Given the description of an element on the screen output the (x, y) to click on. 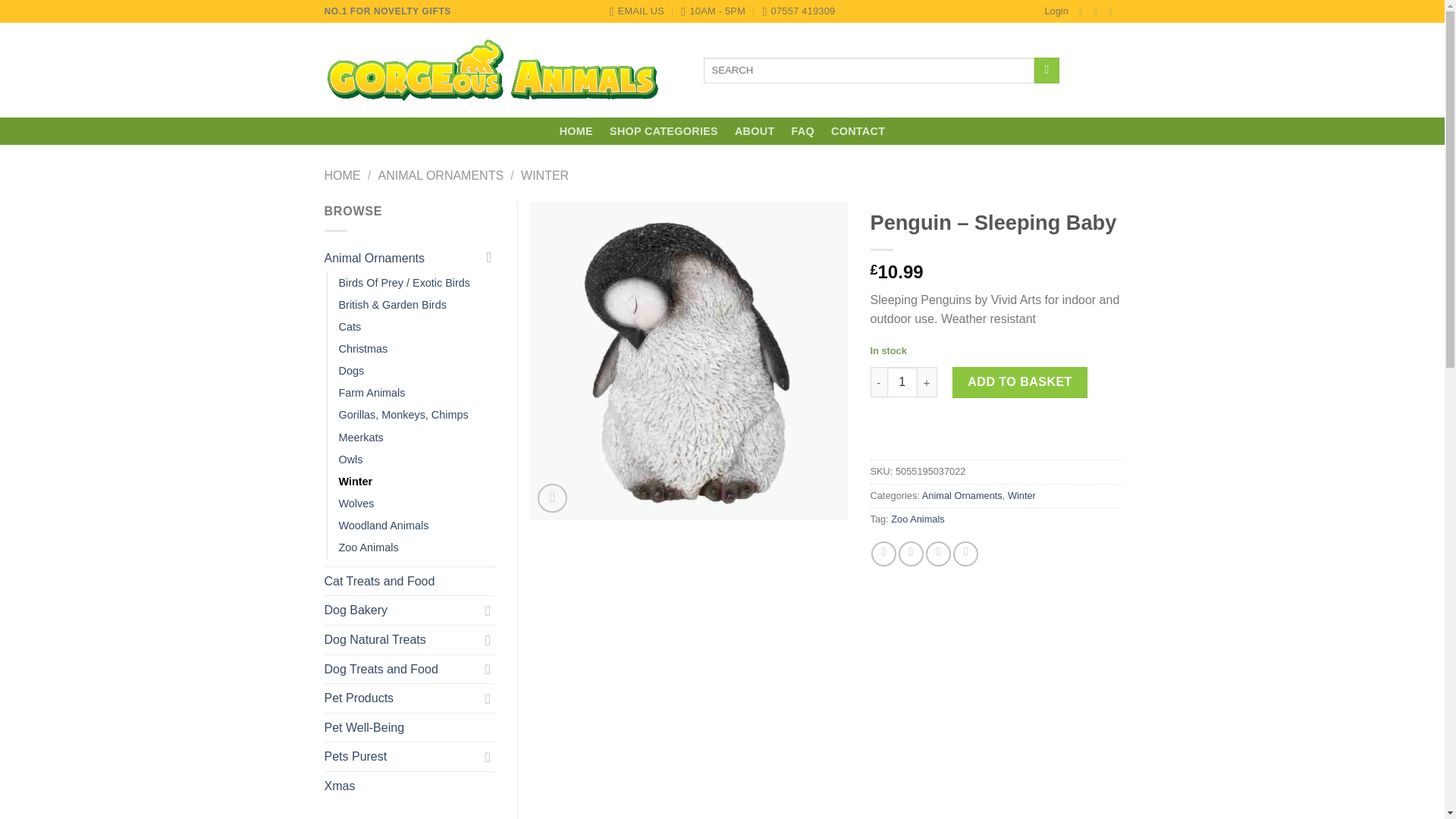
HOME (342, 174)
Winter (1021, 495)
07557 419309 (797, 11)
Zoo Animals (917, 518)
CONTACT (858, 130)
Animal Ornaments (401, 258)
PayPal (995, 442)
ANIMAL ORNAMENTS (440, 174)
WINTER (545, 174)
ADD TO BASKET (1019, 381)
HOME (575, 130)
1 (901, 381)
10AM - 5PM (713, 11)
Animal Ornaments (962, 495)
